Given the description of an element on the screen output the (x, y) to click on. 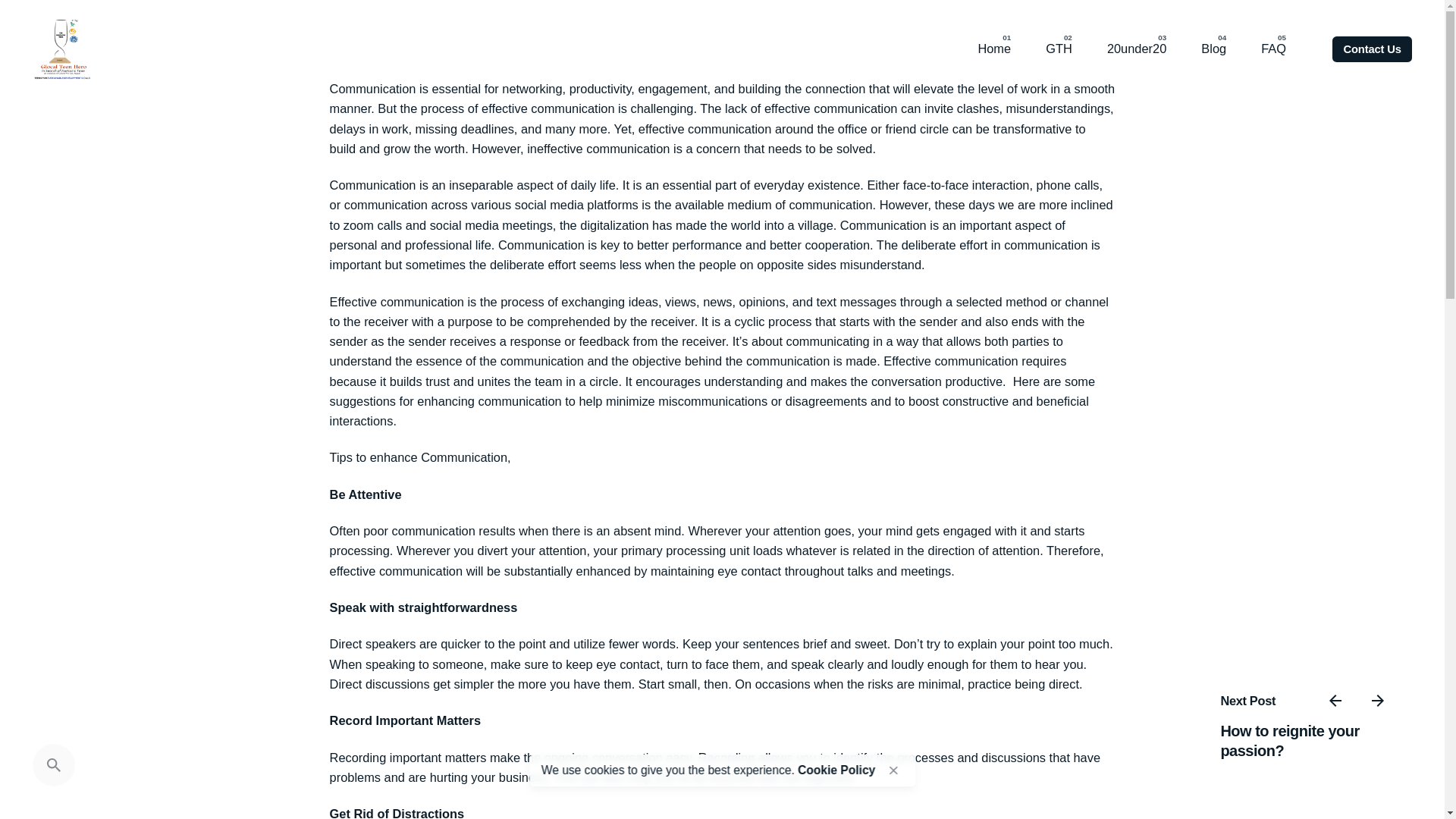
Home (993, 49)
GTH (1058, 49)
Contact Us (1371, 49)
Blog (1213, 49)
FAQ (1273, 49)
20under20 (1136, 49)
How to reignite your passion? (1289, 740)
